Given the description of an element on the screen output the (x, y) to click on. 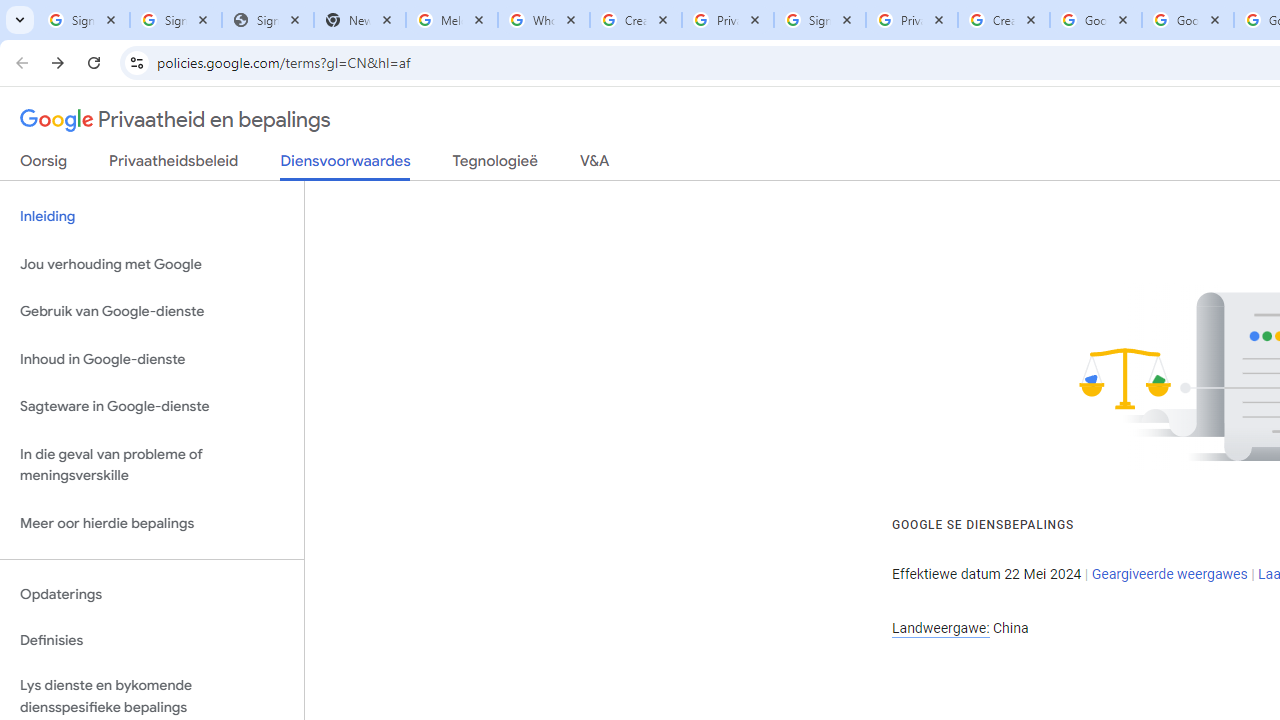
Gebruik van Google-dienste (152, 312)
Privaatheidsbeleid (173, 165)
Jou verhouding met Google (152, 263)
Sagteware in Google-dienste (152, 407)
Landweergawe: (940, 628)
Sign in - Google Accounts (820, 20)
Sign in - Google Accounts (175, 20)
Sign in - Google Accounts (83, 20)
Create your Google Account (636, 20)
Diensvoorwaardes (345, 166)
New Tab (359, 20)
